Given the description of an element on the screen output the (x, y) to click on. 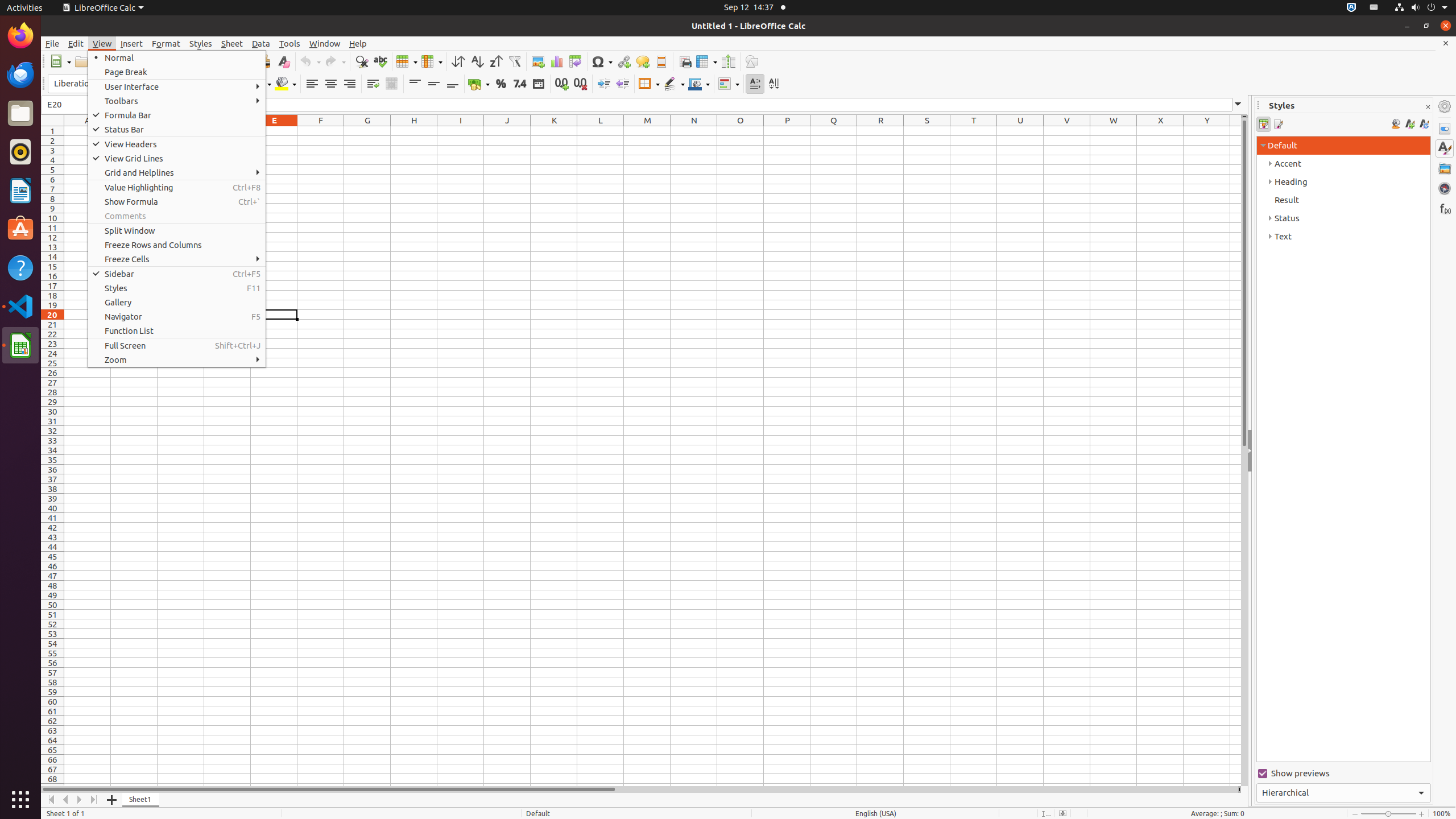
Q1 Element type: table-cell (833, 130)
Edit Element type: menu (75, 43)
LibreOffice Calc Element type: menu (102, 7)
Border Style Element type: push-button (673, 83)
Toolbars Element type: menu (176, 100)
